Given the description of an element on the screen output the (x, y) to click on. 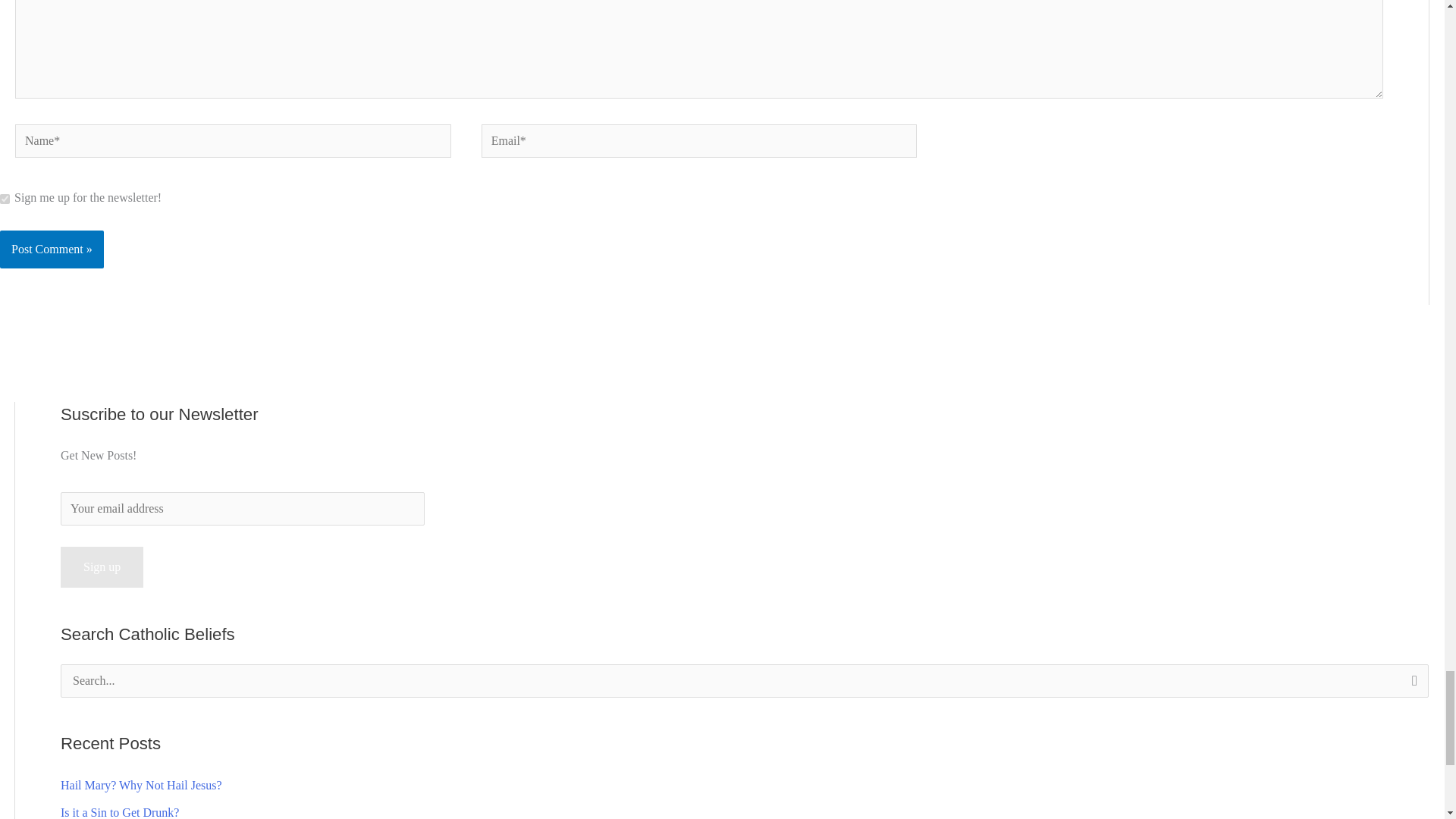
Sign up (101, 567)
1 (5, 198)
Sign up (101, 567)
